Given the description of an element on the screen output the (x, y) to click on. 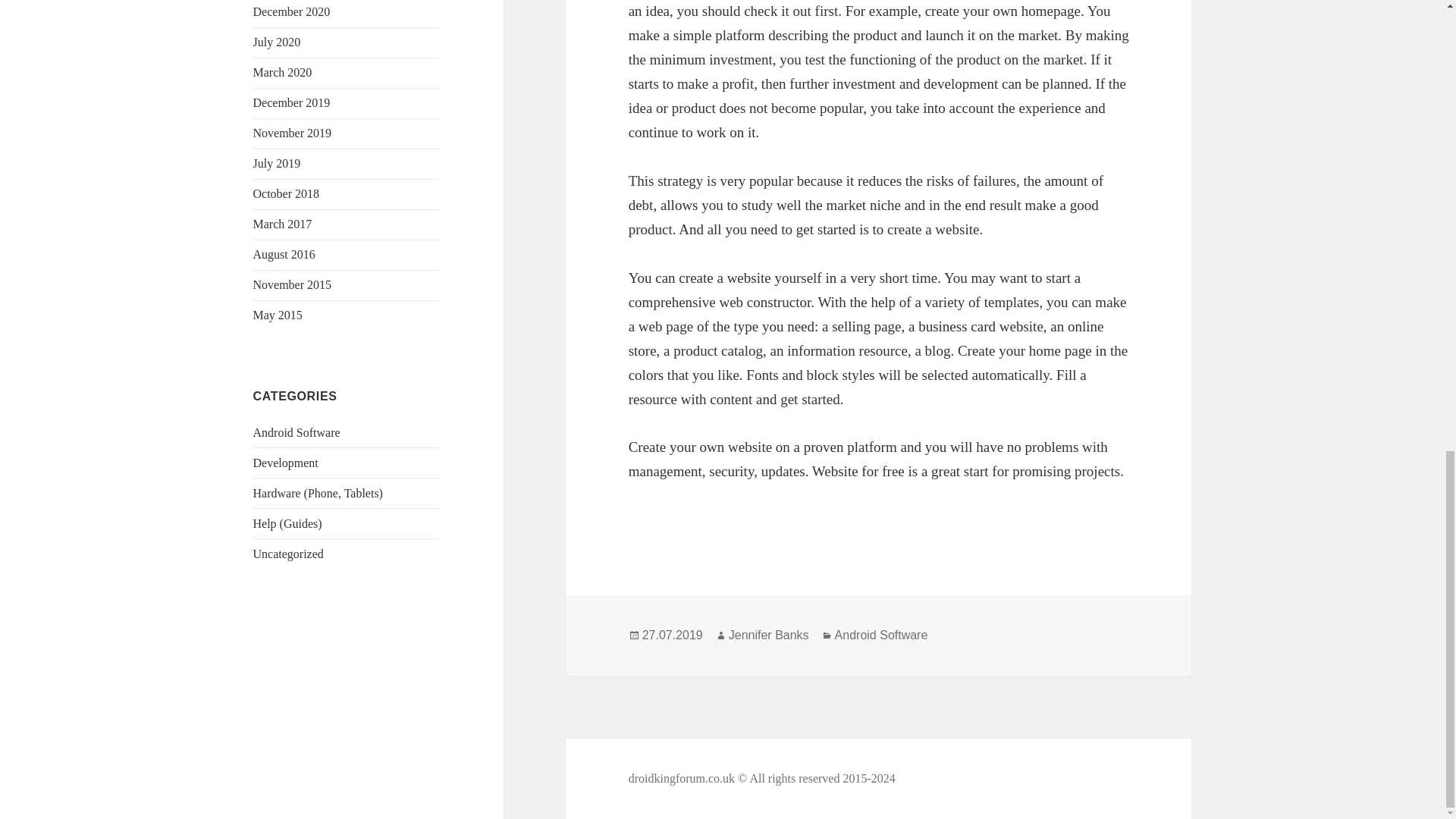
October 2018 (286, 193)
Jennifer Banks (769, 635)
27.07.2019 (672, 635)
Uncategorized (288, 553)
Development (285, 462)
July 2020 (277, 42)
December 2019 (291, 102)
May 2015 (277, 314)
November 2015 (292, 284)
Android Software (296, 431)
March 2020 (283, 72)
July 2019 (277, 163)
December 2020 (291, 11)
November 2019 (292, 132)
March 2017 (283, 223)
